Given the description of an element on the screen output the (x, y) to click on. 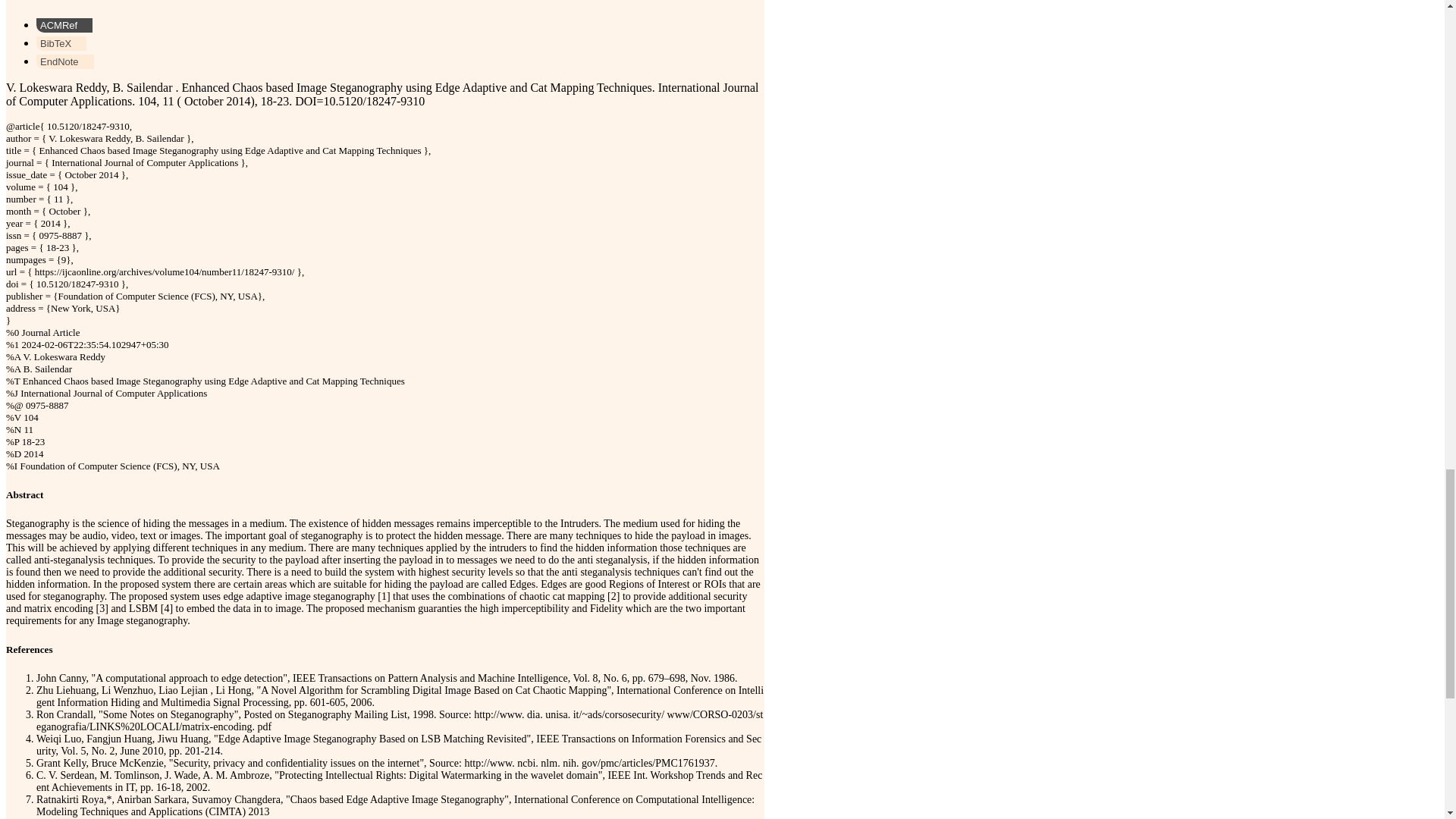
BibTeX (60, 43)
EndNote (65, 61)
ACMRef (64, 25)
